Given the description of an element on the screen output the (x, y) to click on. 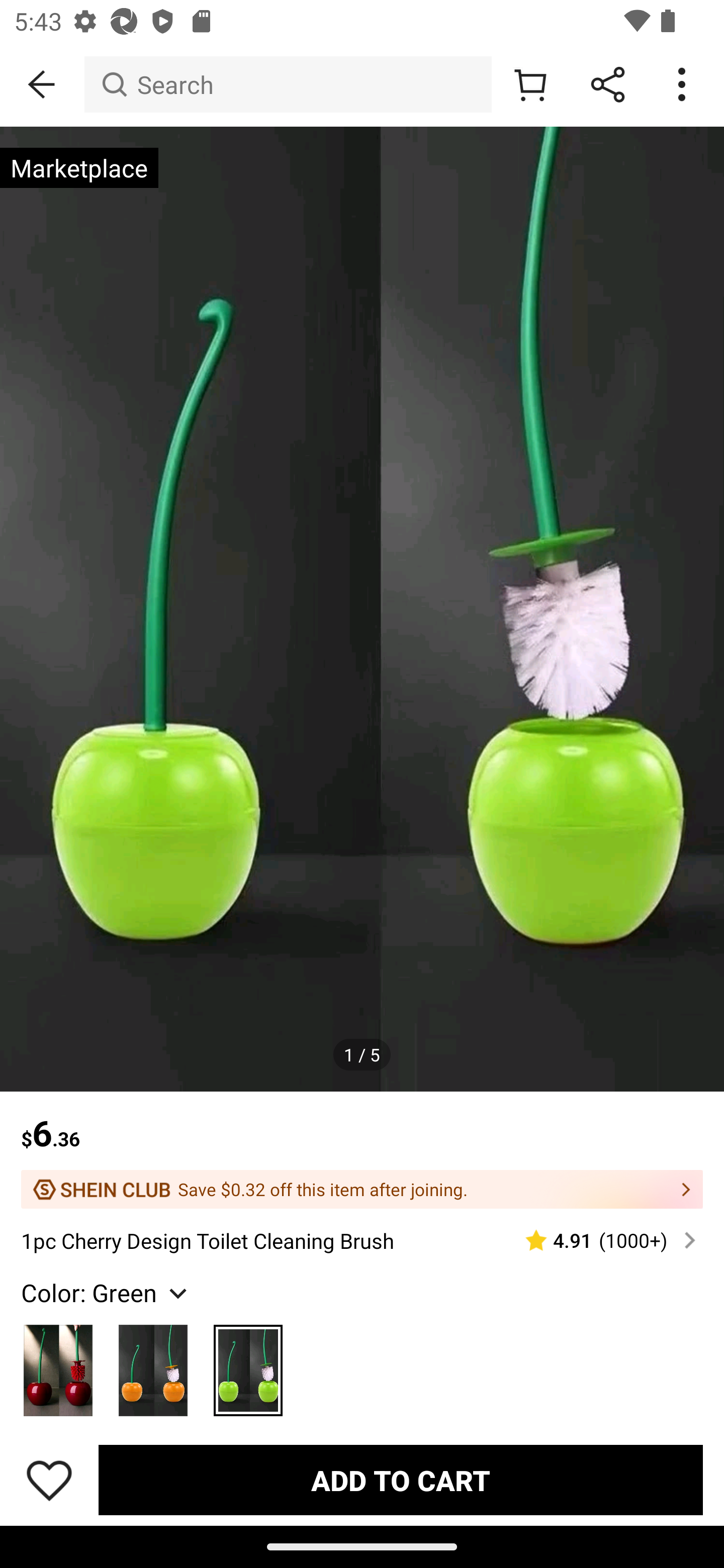
BACK (42, 84)
Search (287, 84)
1 / 5 (361, 1055)
$6.36 Save $0.32 off this item after joining. (362, 1149)
Save $0.32 off this item after joining. (361, 1188)
4.91 (1000‎+) (602, 1240)
Color: Green (105, 1292)
Hot Pink (57, 1365)
Orange (152, 1365)
Green (247, 1365)
ADD TO CART (400, 1479)
Save (48, 1479)
